Given the description of an element on the screen output the (x, y) to click on. 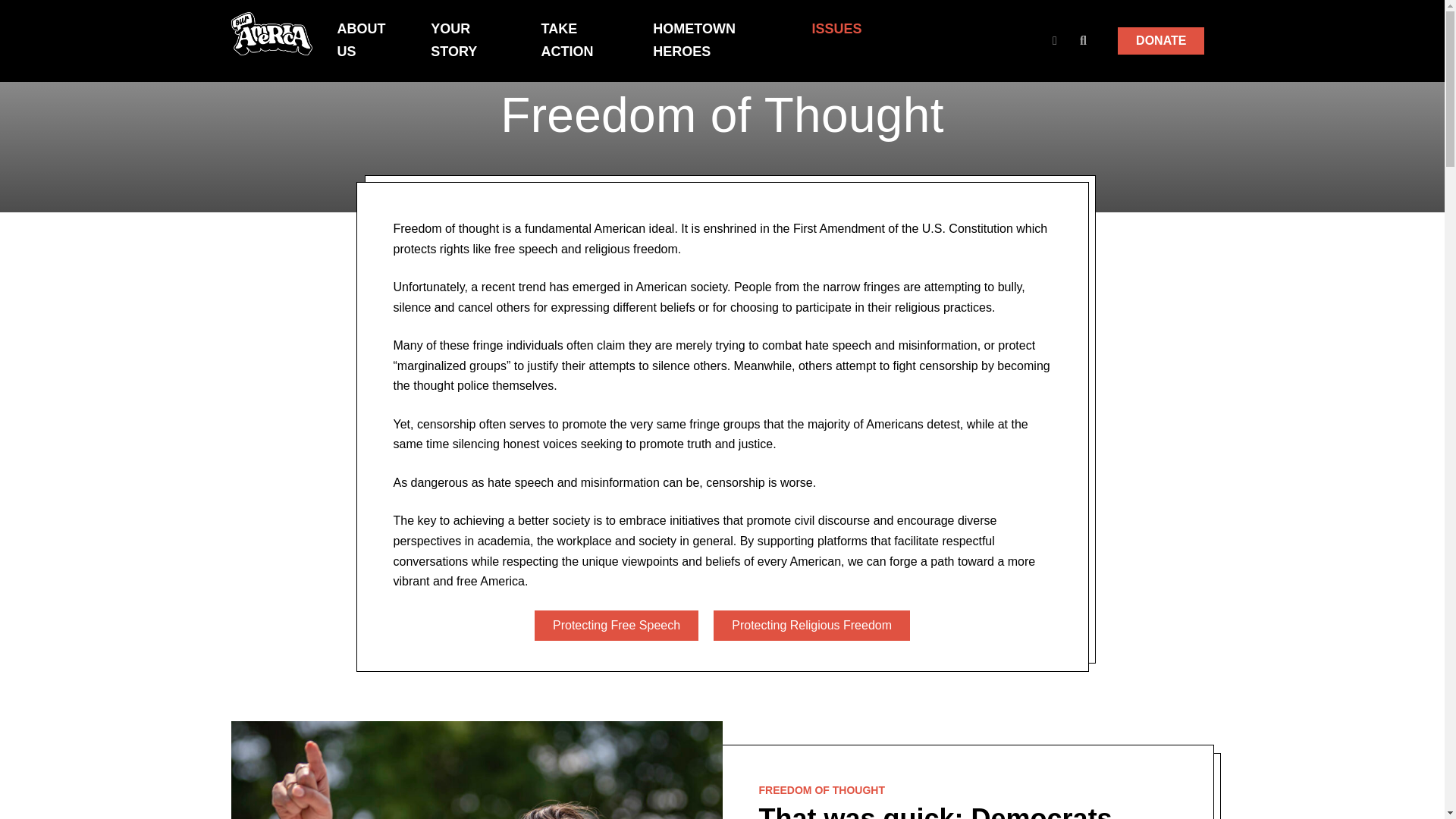
DONATE (1161, 40)
HOMETOWN HEROES (716, 40)
ISSUES (835, 29)
YOUR STORY (470, 40)
TAKE ACTION (582, 40)
Protecting Religious Freedom (811, 625)
ABOUT US (368, 40)
Protecting Free Speech (616, 625)
